Given the description of an element on the screen output the (x, y) to click on. 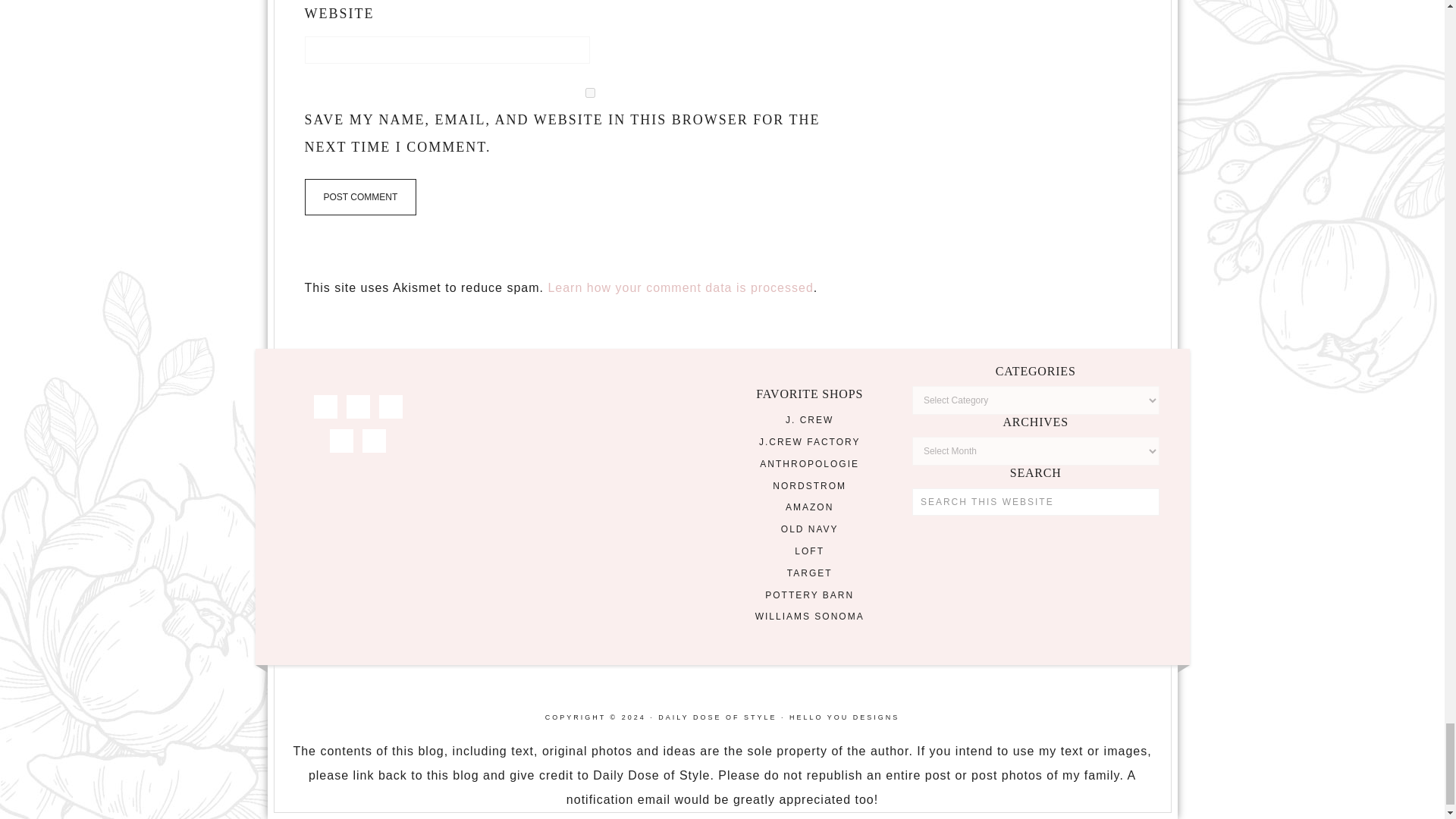
yes (590, 92)
Post Comment (360, 197)
